Given the description of an element on the screen output the (x, y) to click on. 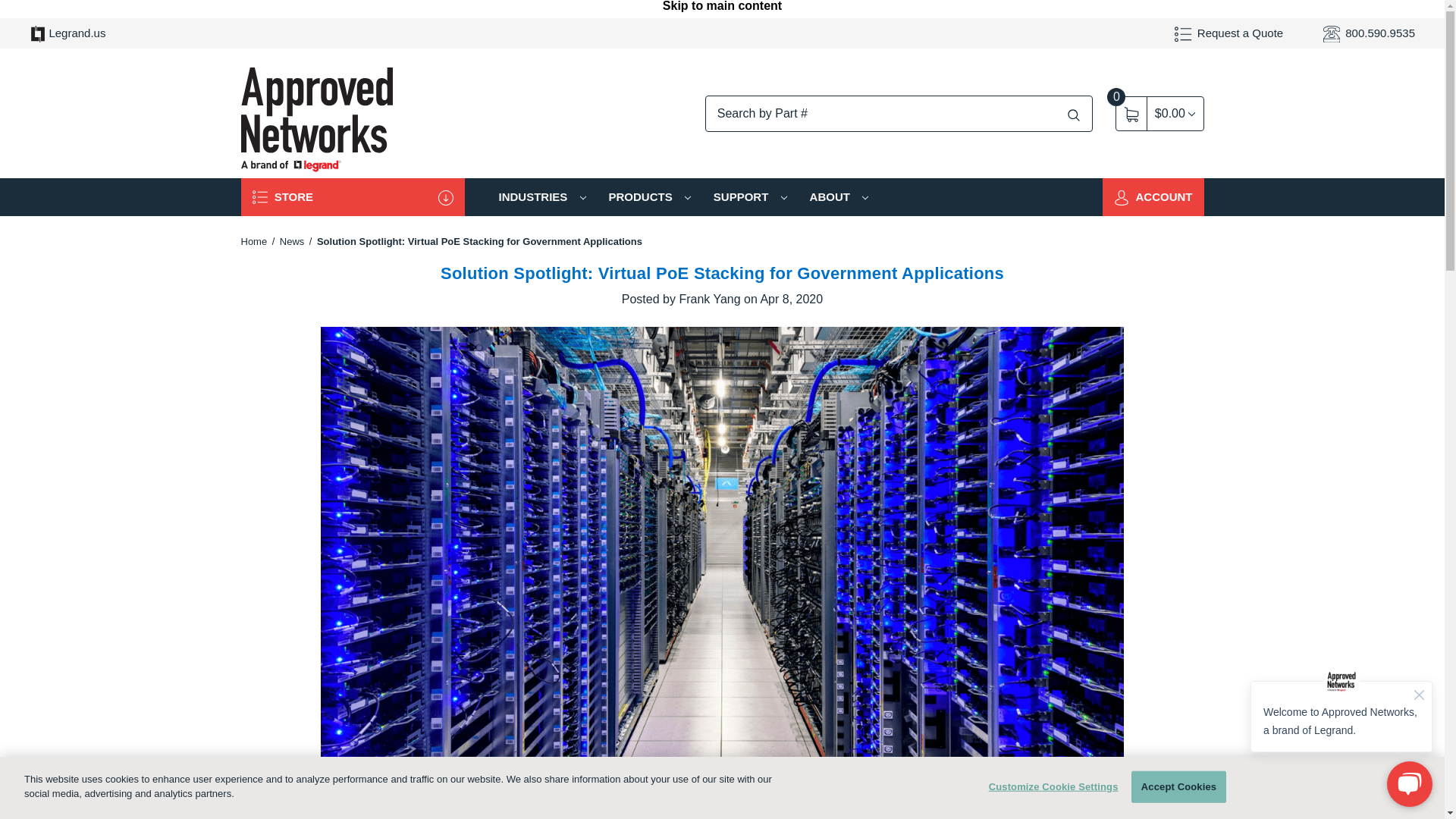
epicHeader.search (1073, 114)
800.590.9535 (1368, 33)
logo (317, 113)
Skip to main content (721, 9)
Request a Quote (1228, 33)
Legrand.us (67, 33)
